Given the description of an element on the screen output the (x, y) to click on. 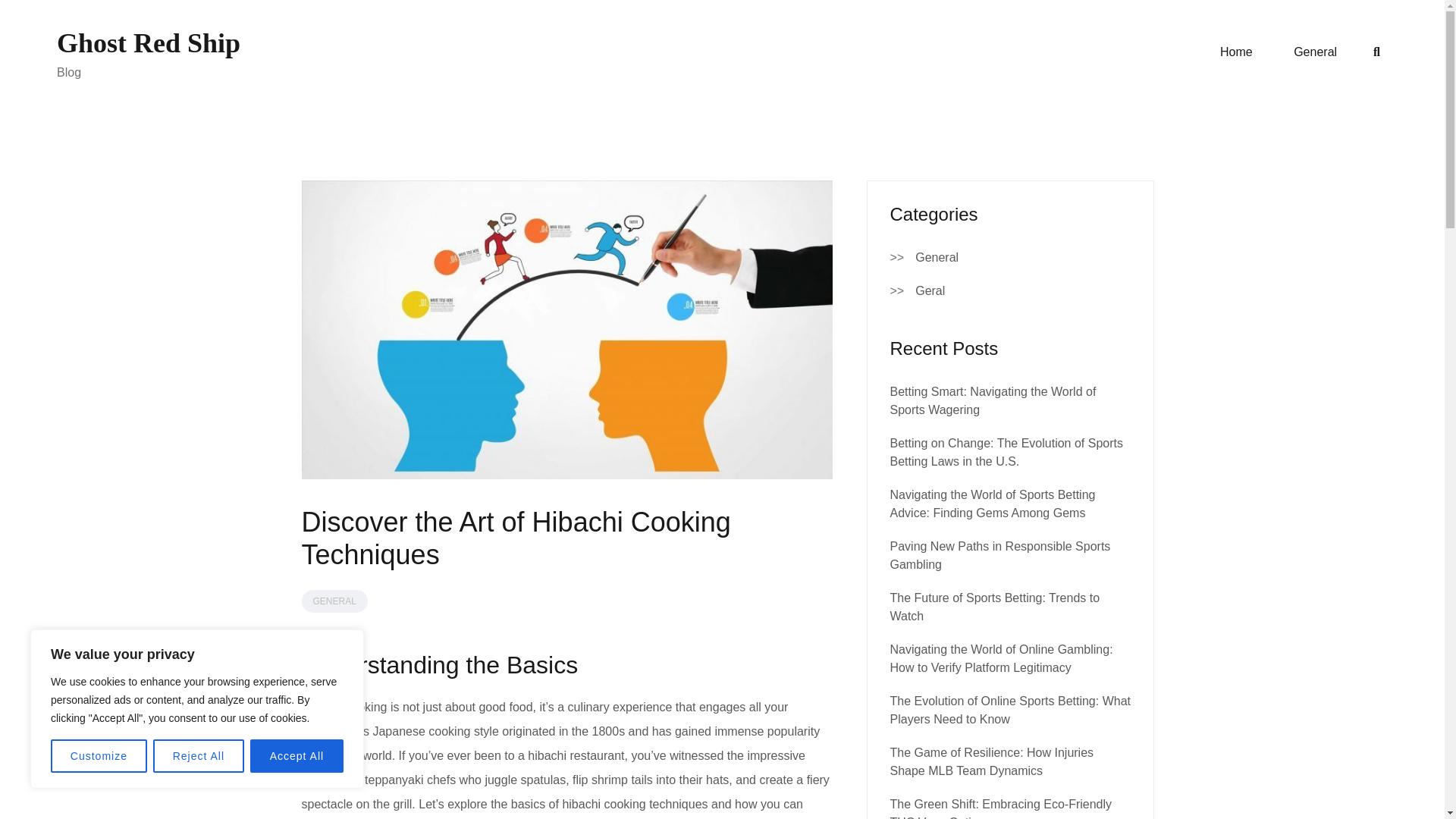
Accept All (296, 756)
Geral (929, 290)
General (936, 257)
Ghost Red Ship (148, 42)
Paving New Paths in Responsible Sports Gambling (999, 554)
Reject All (198, 756)
Home (1236, 52)
GENERAL (334, 600)
